Given the description of an element on the screen output the (x, y) to click on. 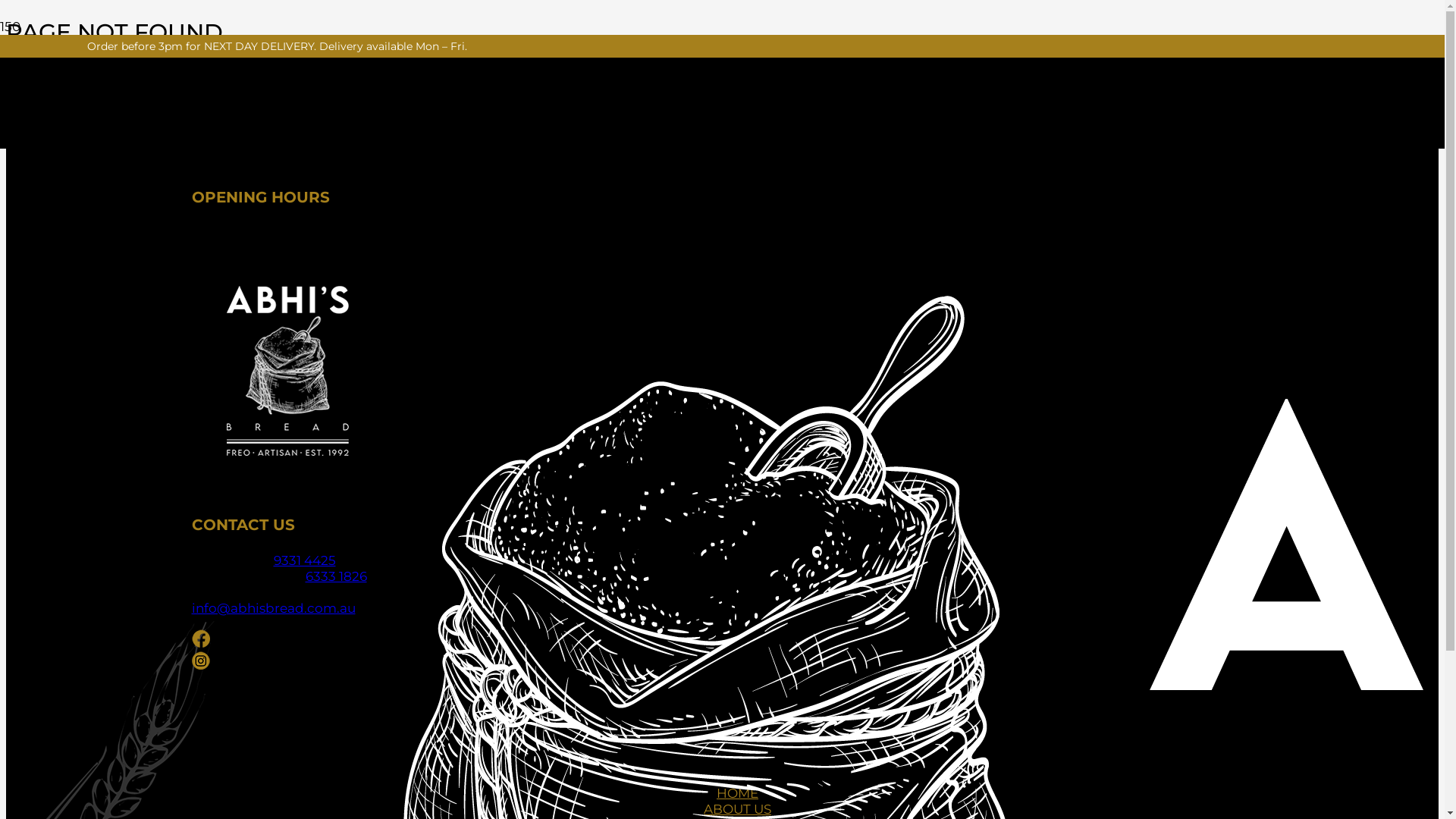
info@abhisbread.com.au Element type: text (272, 607)
ABOUT US Element type: text (737, 808)
6333 1826 Element type: text (335, 575)
HOME Element type: text (737, 792)
9331 4425 Element type: text (304, 559)
